Given the description of an element on the screen output the (x, y) to click on. 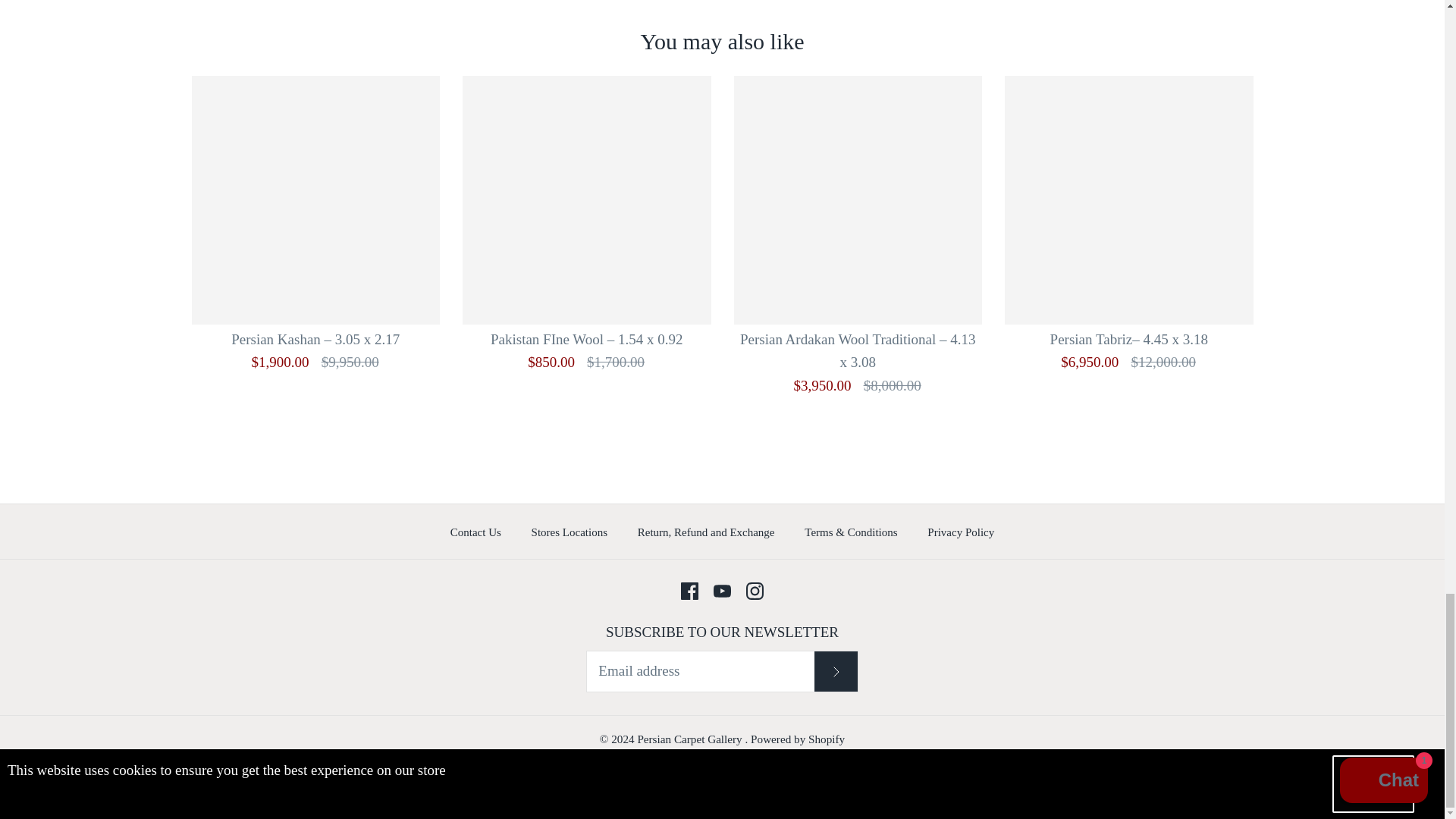
Youtube (721, 590)
Instagram (753, 590)
Facebook (689, 590)
